Given the description of an element on the screen output the (x, y) to click on. 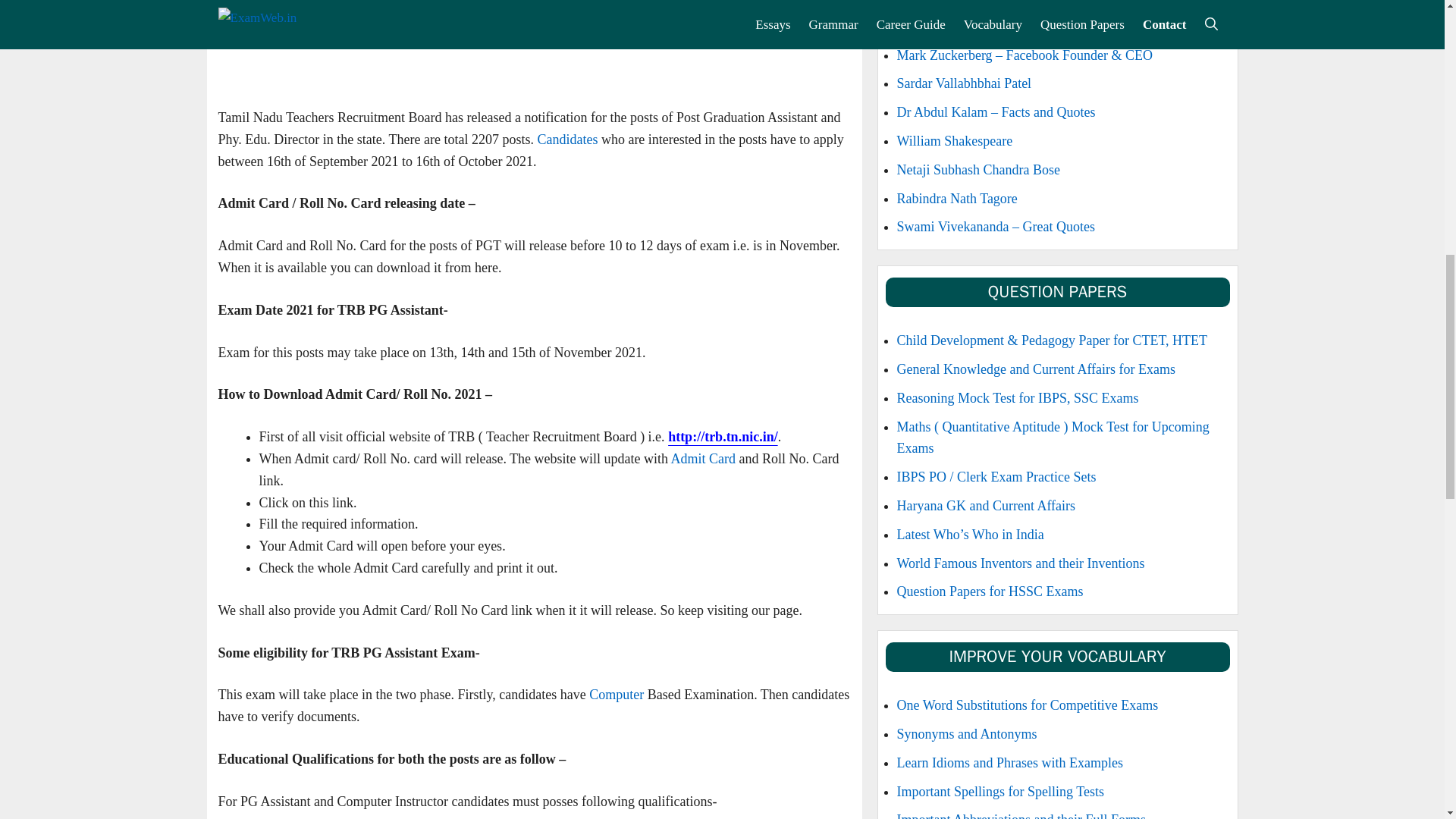
Computer (616, 694)
Sh Narendra Modi (946, 26)
Admit Card (703, 458)
Sardar Vallabhbhai Patel (963, 83)
Scroll back to top (1406, 720)
Candidates (566, 139)
